Given the description of an element on the screen output the (x, y) to click on. 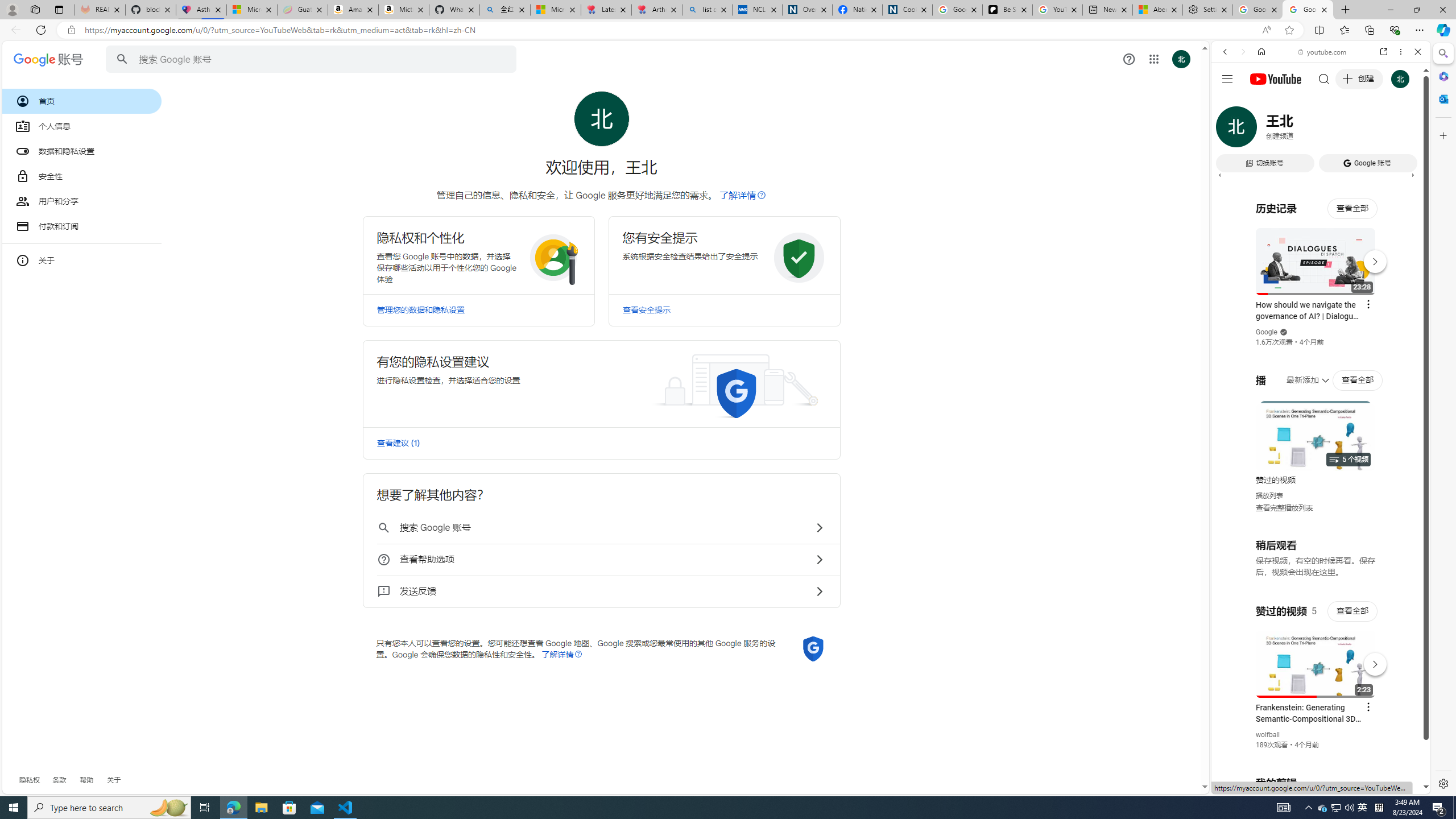
youtube.com (1322, 51)
Class: dict_pnIcon rms_img (1312, 784)
